Given the description of an element on the screen output the (x, y) to click on. 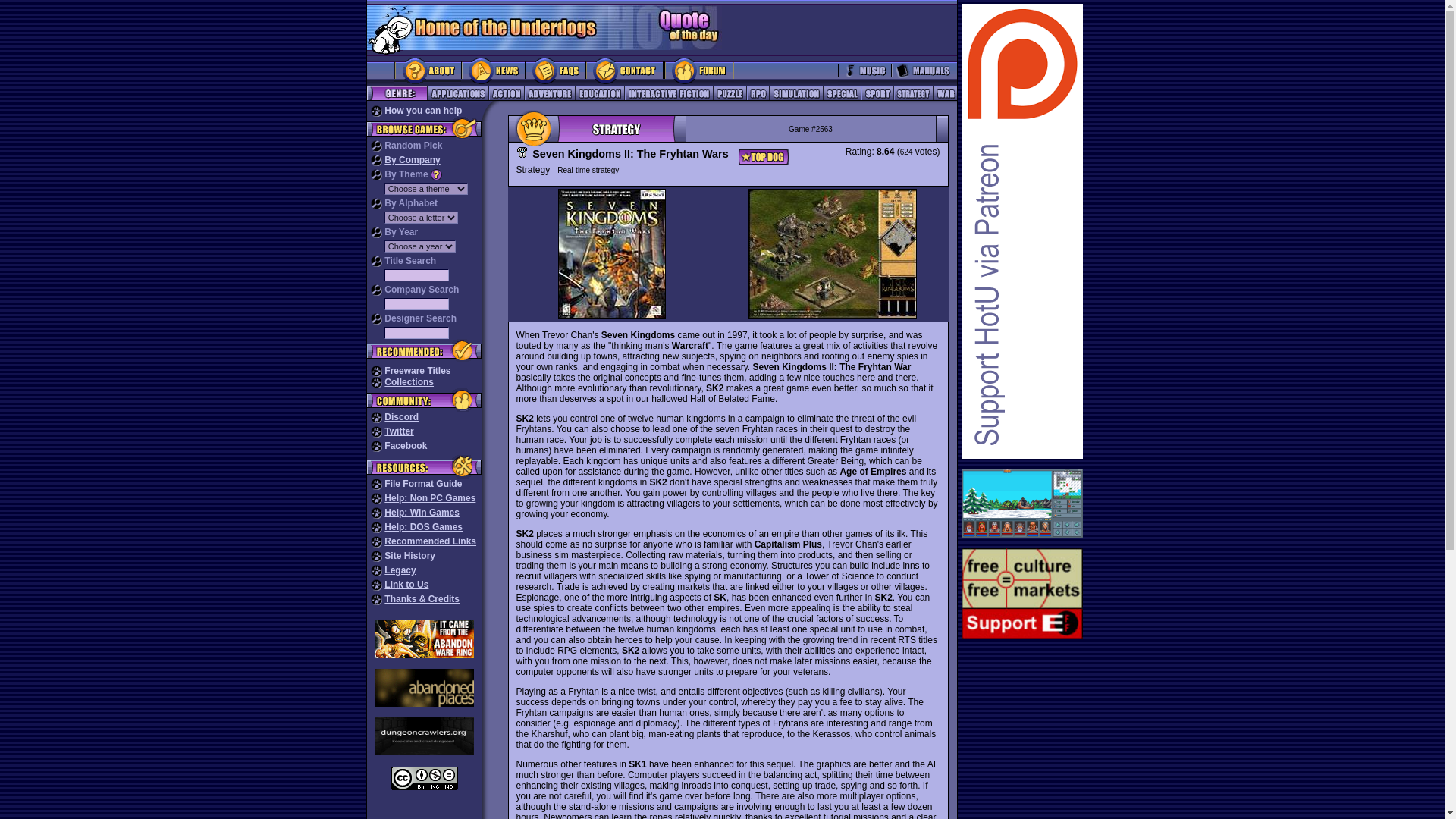
How you can help (422, 110)
Help: DOS Games (423, 526)
Help: Non PC Games (430, 498)
File Format Guide (422, 483)
Link to Us (406, 584)
Site History (409, 555)
By Company (411, 159)
Discord (401, 416)
Twitter (398, 430)
Freeware Titles (416, 370)
Recommended Links (430, 541)
Facebook (405, 445)
Random Pick (413, 145)
Collections (408, 381)
Legacy (399, 570)
